Given the description of an element on the screen output the (x, y) to click on. 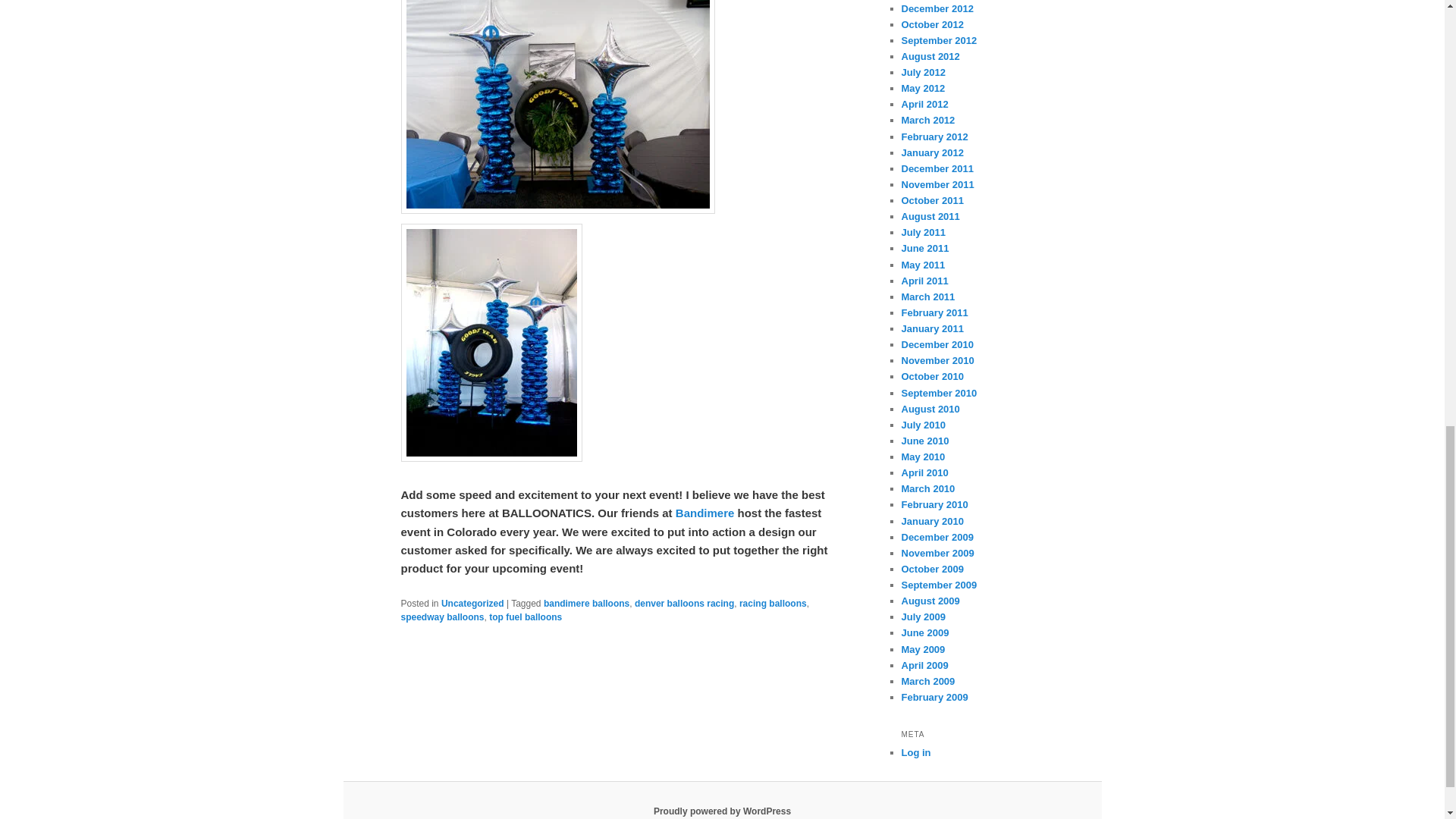
Uncategorized (472, 603)
speedway balloons (441, 616)
Semantic Personal Publishing Platform (721, 810)
denver balloons racing (683, 603)
top fuel balloons (525, 616)
racing balloons (772, 603)
bandimere balloons (585, 603)
Bandimere (705, 512)
